Given the description of an element on the screen output the (x, y) to click on. 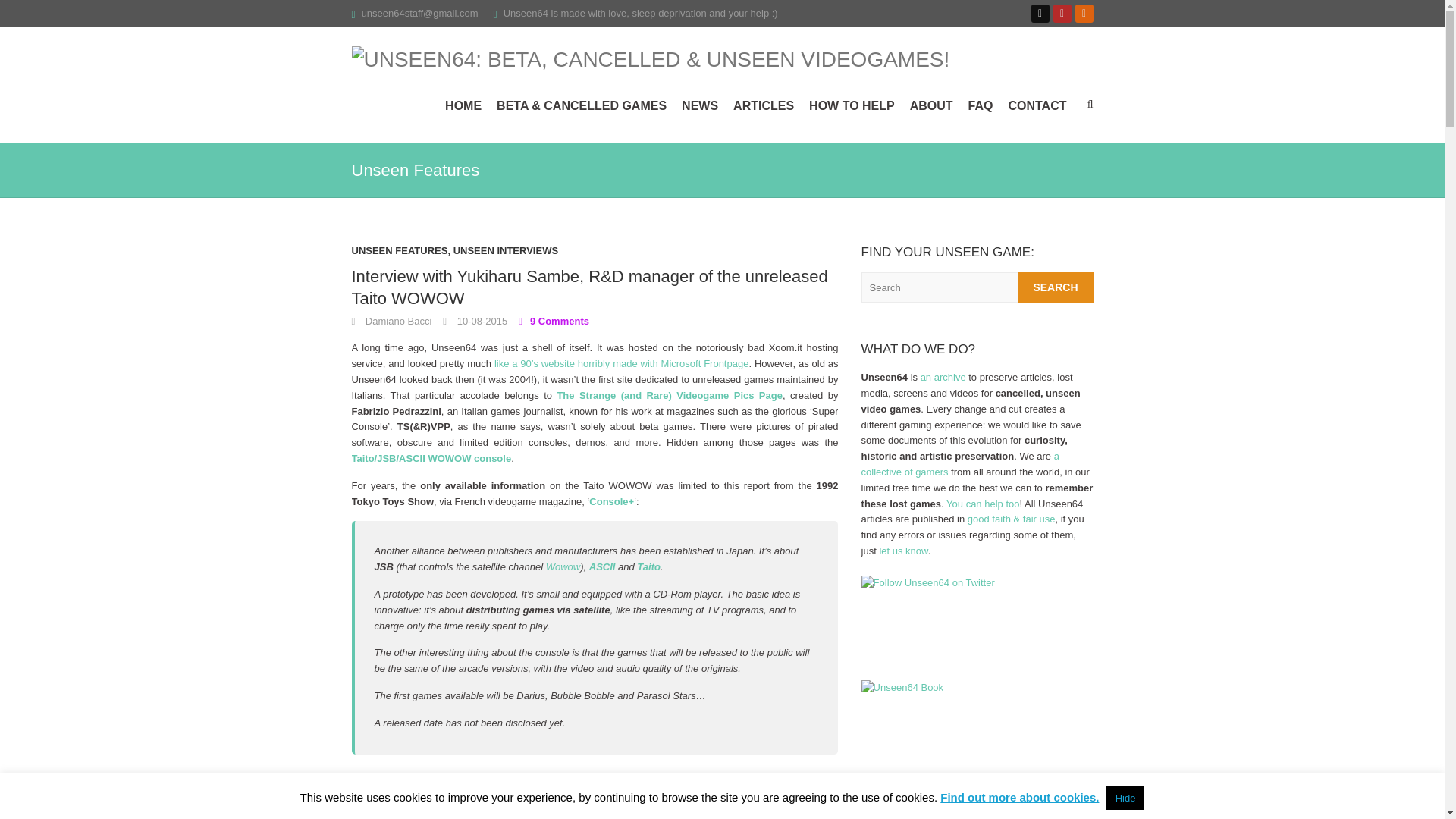
Search (1055, 286)
Taito (649, 566)
UNSEEN FEATURES (400, 254)
10-08-2015 (474, 320)
Damiano Bacci (392, 320)
08:01 (474, 320)
ASCII (602, 566)
ARTICLES (763, 106)
CONTACT (1036, 106)
 Mail Us  (420, 12)
9 Comments (553, 320)
Wowow (563, 566)
UNSEEN INTERVIEWS (504, 254)
HOW TO HELP (852, 106)
Search (1055, 286)
